Given the description of an element on the screen output the (x, y) to click on. 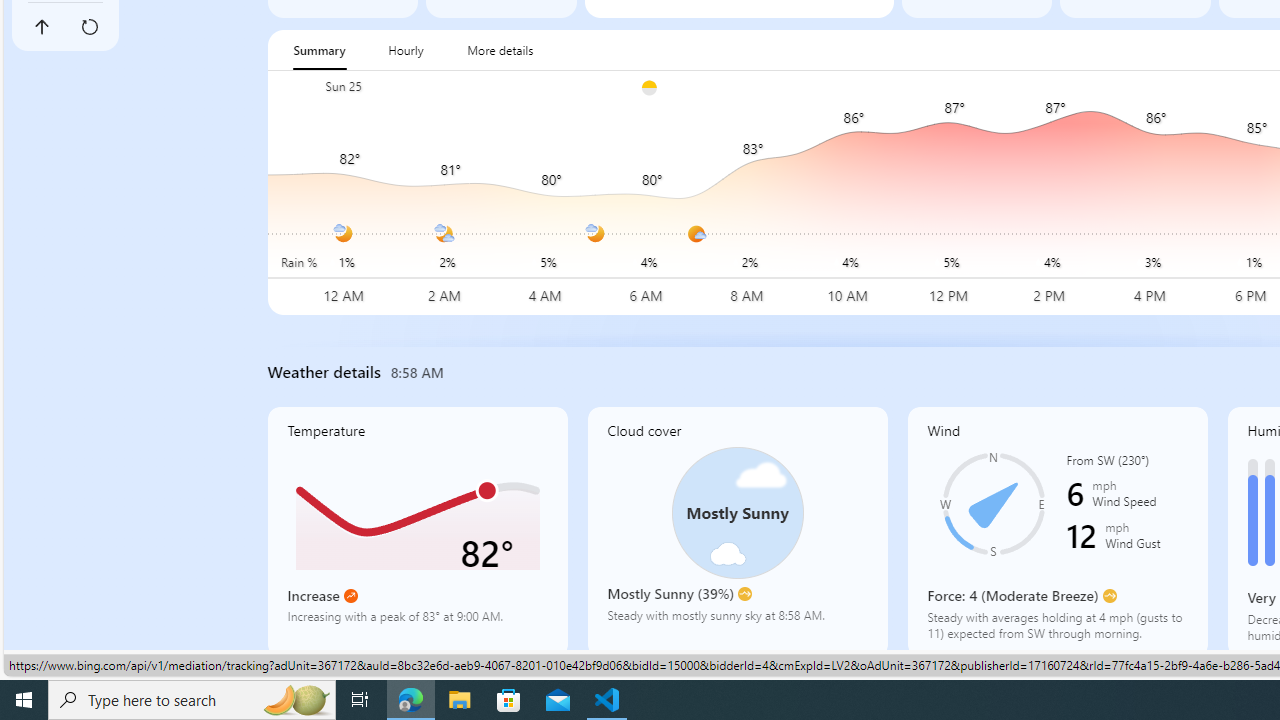
Hourly (406, 49)
Refresh this page (89, 26)
Cloud cover (737, 531)
Temperature (417, 531)
Class: cloudCoverSvg-DS-ps0R9q (736, 512)
Back to top (41, 26)
More details (500, 49)
Wind (1057, 531)
Increase (350, 595)
Steady with mostly sunny sky at 8:58 AM. (736, 622)
